Given the description of an element on the screen output the (x, y) to click on. 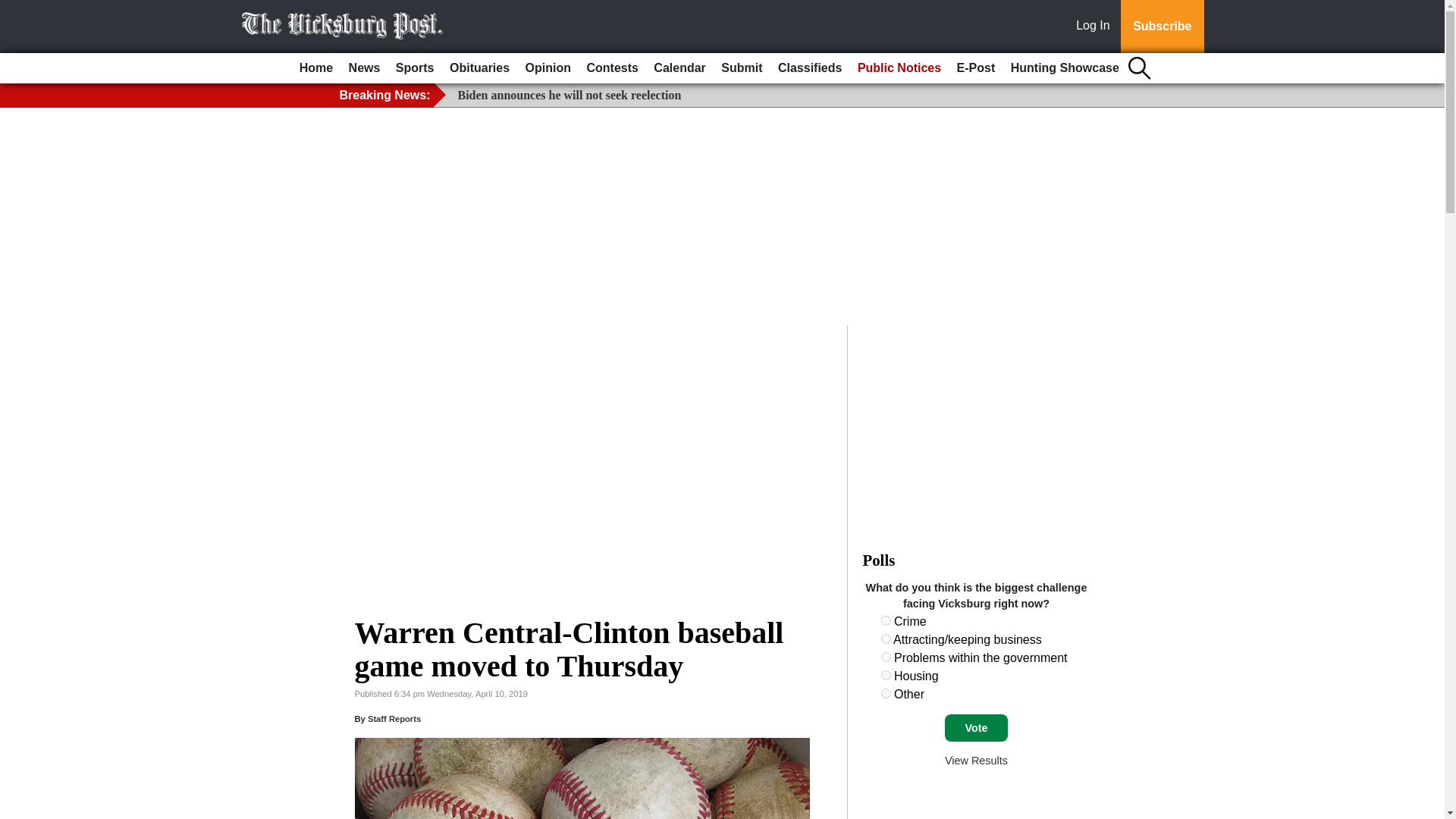
Classifieds (809, 68)
600 (885, 675)
E-Post (975, 68)
News (364, 68)
Subscribe (1162, 26)
597 (885, 620)
Sports (415, 68)
Submit (741, 68)
Contests (611, 68)
Hunting Showcase (1064, 68)
Biden announces he will not seek reelection (569, 94)
Home (316, 68)
599 (885, 656)
Log In (1095, 26)
   Vote    (975, 728)
